Given the description of an element on the screen output the (x, y) to click on. 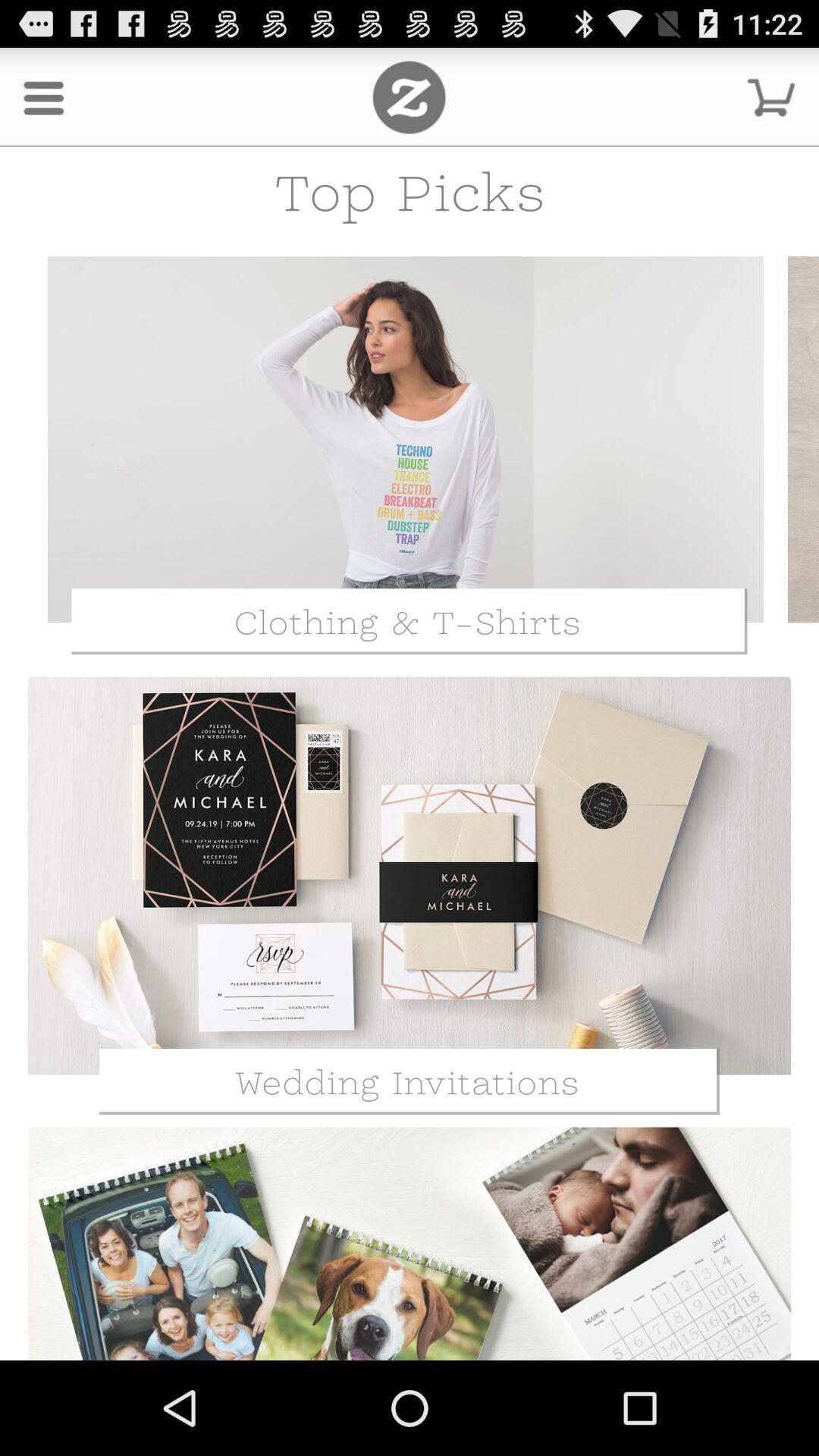
main menu button (408, 97)
